Given the description of an element on the screen output the (x, y) to click on. 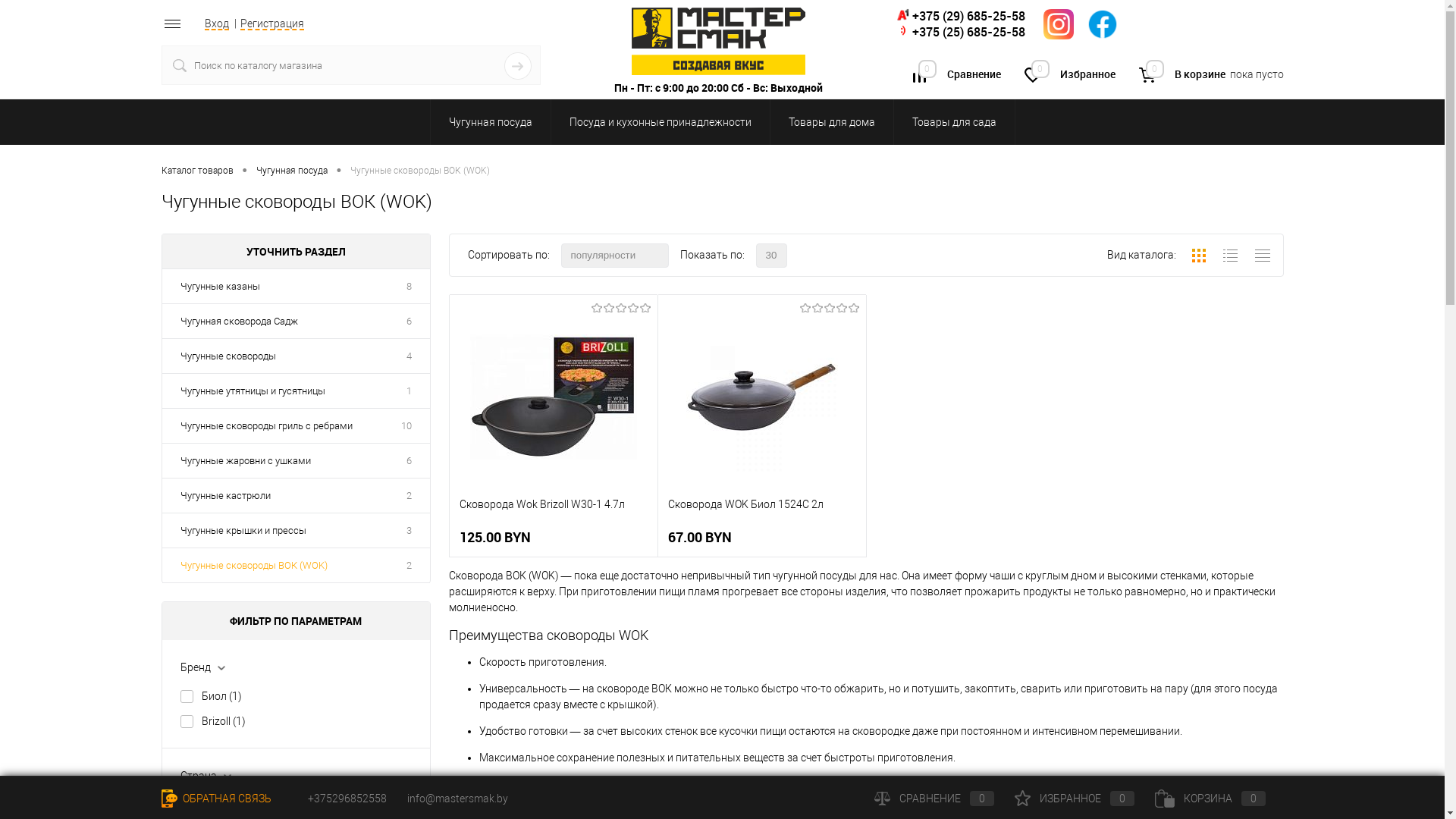
8 Element type: text (408, 286)
6 Element type: text (408, 321)
info@mastersmak.by Element type: text (456, 798)
1 Element type: text (408, 390)
0 Element type: text (918, 76)
0 Element type: text (1146, 74)
+375 (29) 685-25-58 Element type: text (967, 15)
Y Element type: text (517, 65)
2 Element type: text (408, 565)
2 Element type: text (408, 495)
10 Element type: text (405, 425)
+375296852558 Element type: text (338, 798)
3 Element type: text (408, 530)
67.00 BYN Element type: text (761, 537)
+375 (25) 685-25-58 Element type: text (967, 31)
4 Element type: text (408, 355)
6 Element type: text (408, 460)
0 Element type: text (1032, 76)
125.00 BYN Element type: text (553, 537)
